Given the description of an element on the screen output the (x, y) to click on. 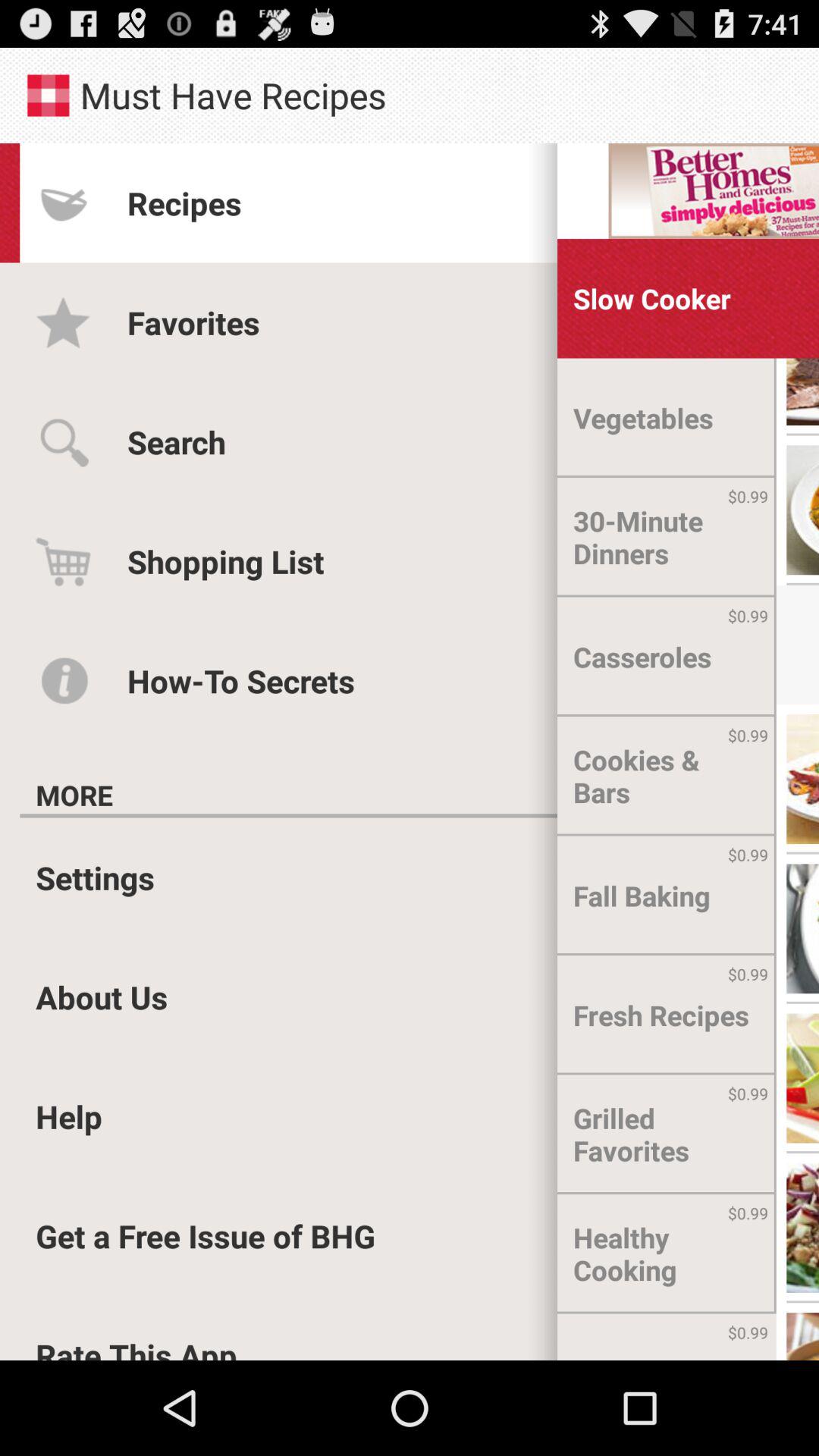
launch the icon above rate this app (205, 1235)
